Given the description of an element on the screen output the (x, y) to click on. 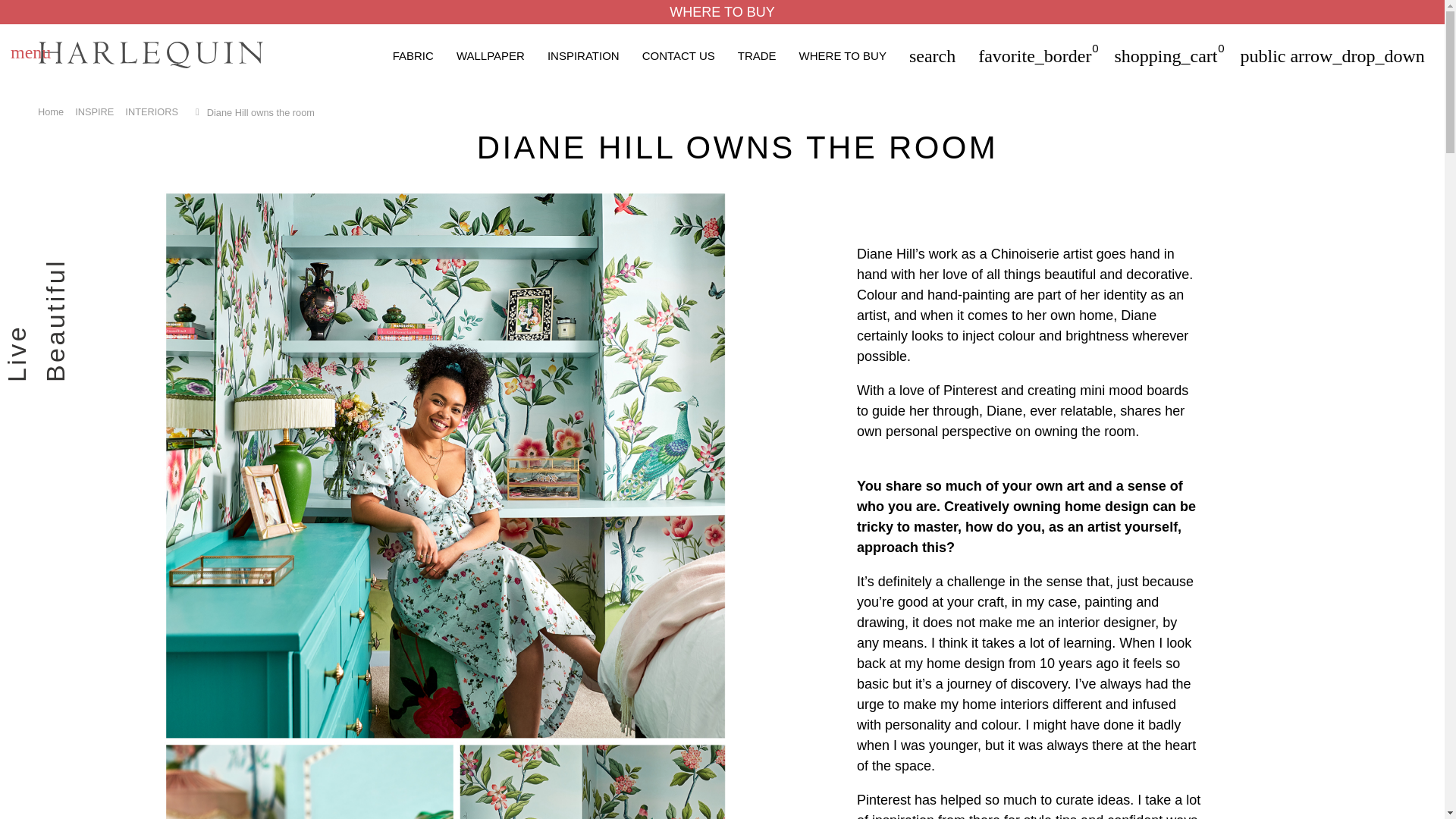
menu (30, 54)
WHERE TO BUY (721, 11)
